Given the description of an element on the screen output the (x, y) to click on. 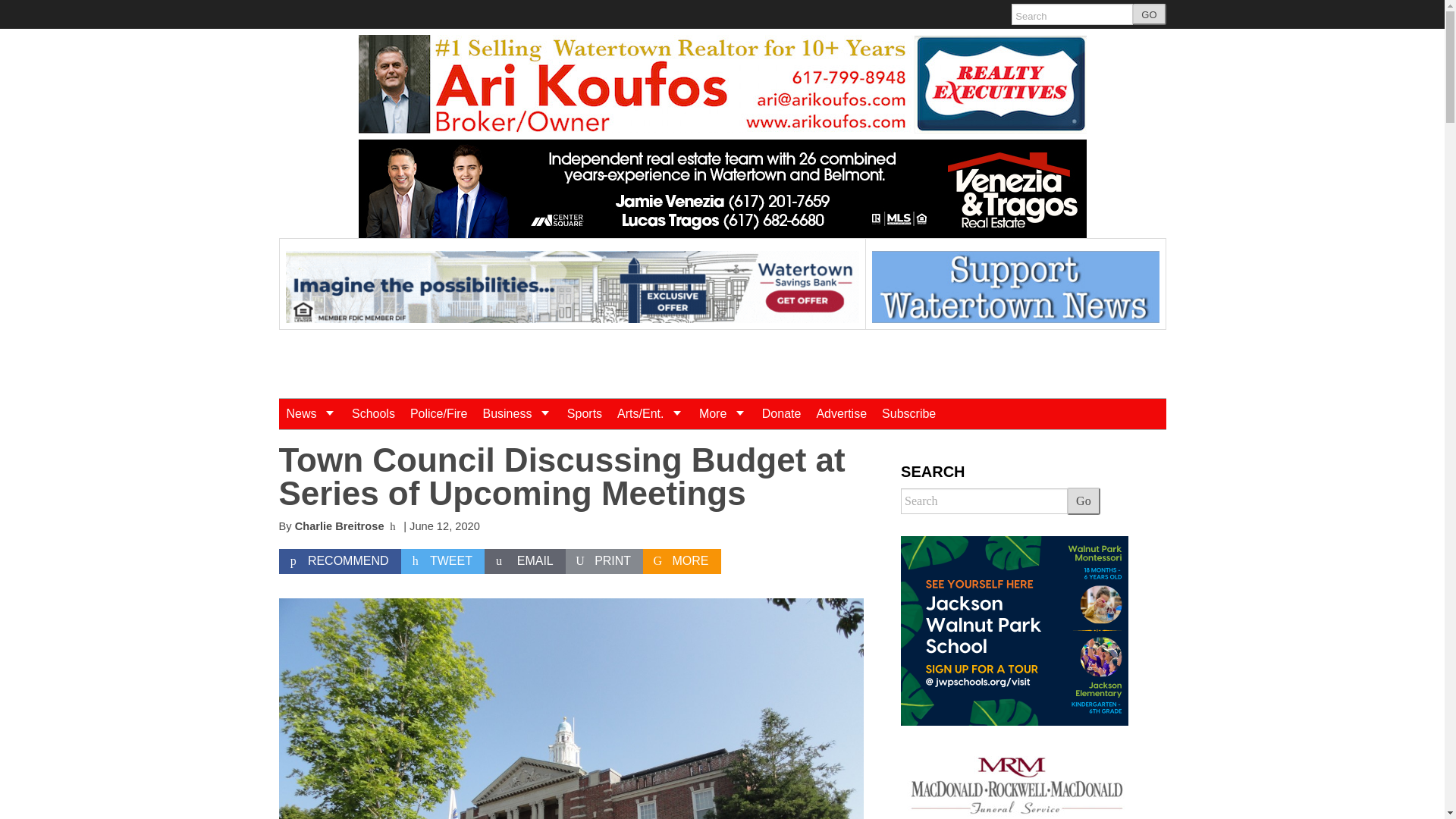
Watertown Savings Bank (572, 286)
Read All Posts By Charlie Breitrose (339, 526)
GO (1149, 14)
Print this article (604, 561)
Schools (373, 413)
Support Watertown News 400x100 Light Blue (1015, 286)
News (311, 413)
Ari Koufos Banner (722, 84)
